Given the description of an element on the screen output the (x, y) to click on. 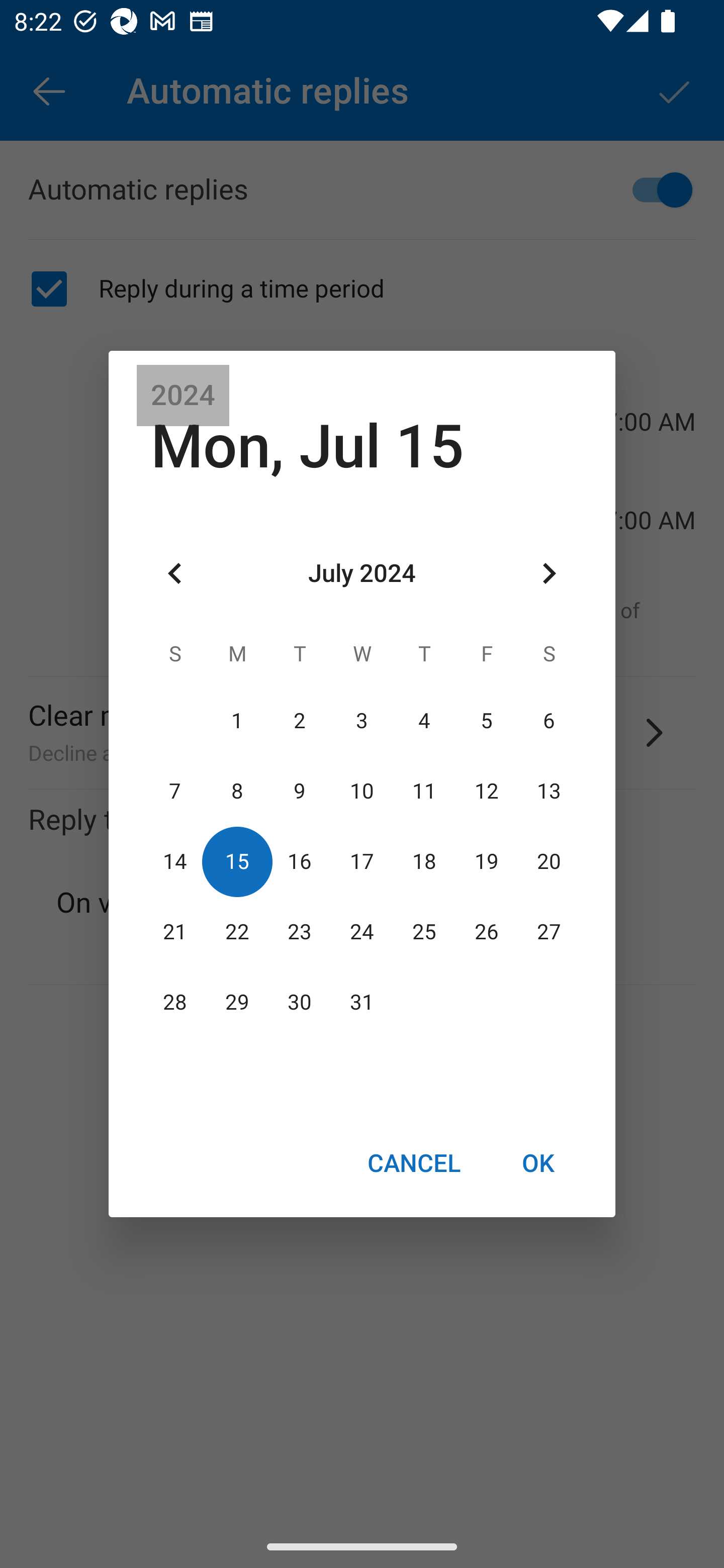
2024 (182, 395)
Mon, Jul 15 (307, 446)
Previous month (174, 573)
Next month (548, 573)
1 01 July 2024 (237, 720)
2 02 July 2024 (299, 720)
3 03 July 2024 (361, 720)
4 04 July 2024 (424, 720)
5 05 July 2024 (486, 720)
6 06 July 2024 (548, 720)
7 07 July 2024 (175, 790)
8 08 July 2024 (237, 790)
9 09 July 2024 (299, 790)
10 10 July 2024 (361, 790)
11 11 July 2024 (424, 790)
12 12 July 2024 (486, 790)
13 13 July 2024 (548, 790)
14 14 July 2024 (175, 861)
15 15 July 2024 (237, 861)
16 16 July 2024 (299, 861)
17 17 July 2024 (361, 861)
18 18 July 2024 (424, 861)
19 19 July 2024 (486, 861)
20 20 July 2024 (548, 861)
21 21 July 2024 (175, 931)
22 22 July 2024 (237, 931)
23 23 July 2024 (299, 931)
24 24 July 2024 (361, 931)
25 25 July 2024 (424, 931)
26 26 July 2024 (486, 931)
27 27 July 2024 (548, 931)
28 28 July 2024 (175, 1002)
29 29 July 2024 (237, 1002)
30 30 July 2024 (299, 1002)
31 31 July 2024 (361, 1002)
CANCEL (413, 1162)
OK (537, 1162)
